Given the description of an element on the screen output the (x, y) to click on. 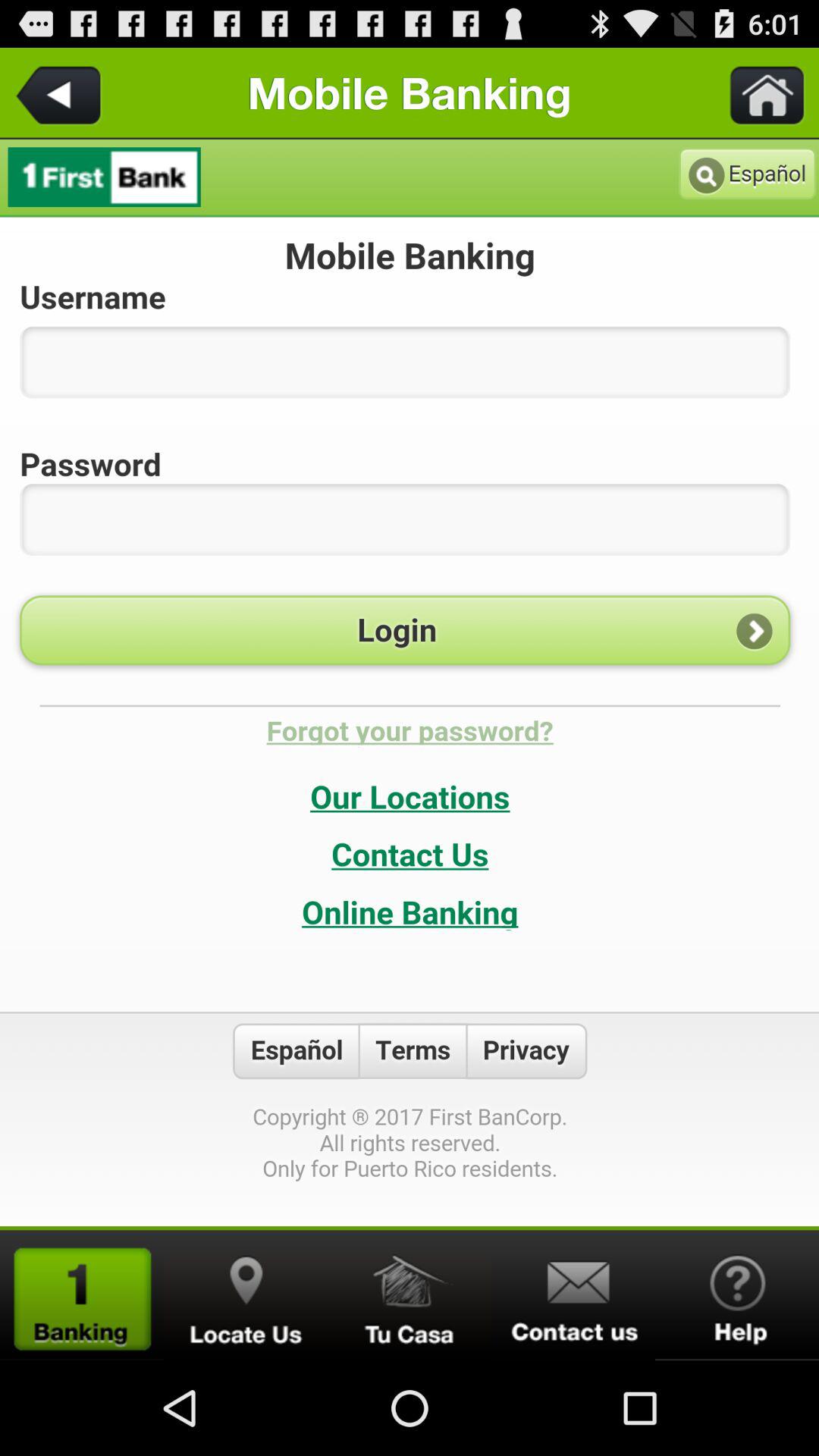
search the location (245, 1295)
